Given the description of an element on the screen output the (x, y) to click on. 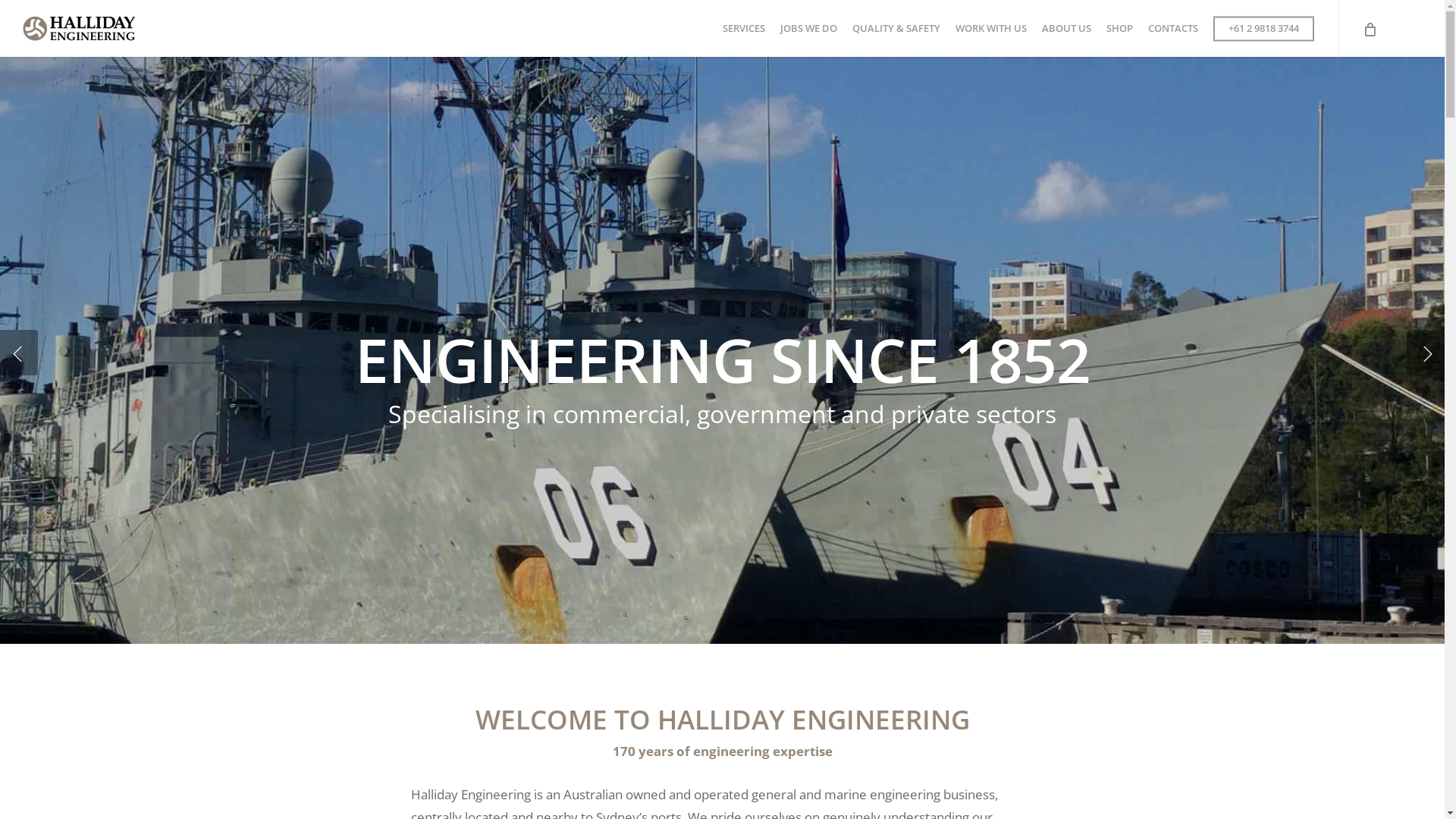
QUALITY & SAFETY Element type: text (896, 28)
WORK WITH US Element type: text (990, 28)
ABOUT US Element type: text (1066, 28)
JOBS WE DO Element type: text (808, 28)
SHOP Element type: text (1119, 28)
Menu Element type: text (1415, 7)
+61 2 9818 3744 Element type: text (1263, 28)
SERVICES Element type: text (743, 28)
CONTACTS Element type: text (1173, 28)
